Given the description of an element on the screen output the (x, y) to click on. 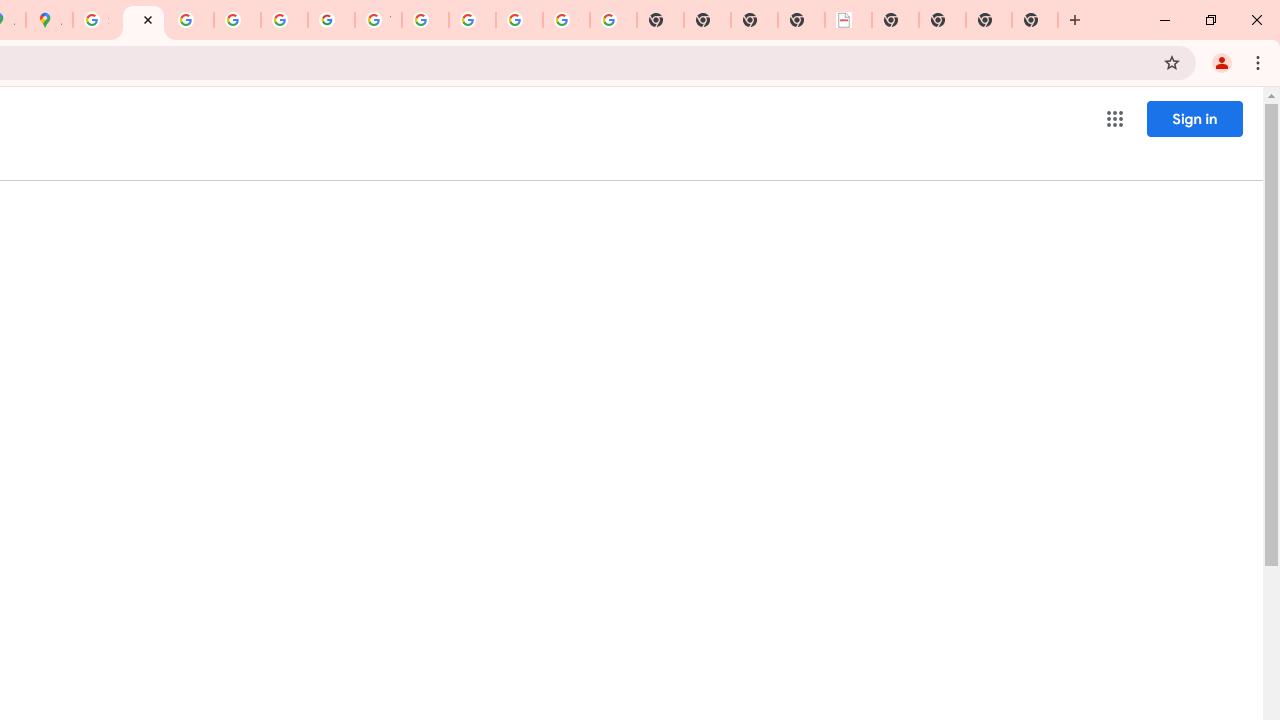
Privacy Help Center - Policies Help (237, 20)
Browse Chrome as a guest - Computer - Google Chrome Help (425, 20)
New Tab (895, 20)
New Tab (1035, 20)
YouTube (377, 20)
New Tab (989, 20)
